Given the description of an element on the screen output the (x, y) to click on. 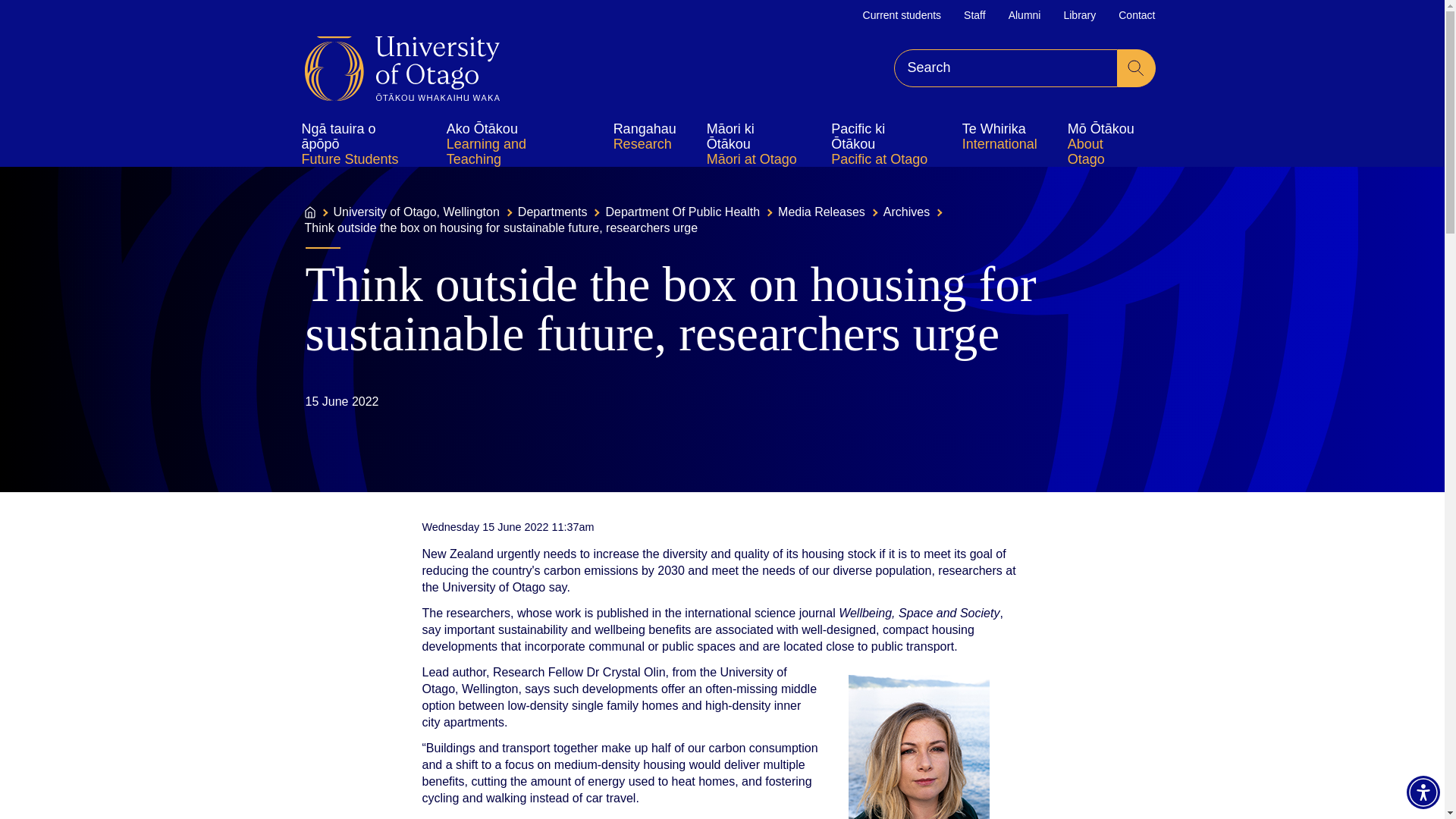
Staff (974, 15)
Current students (902, 15)
Contact (1136, 15)
Alumni (1025, 15)
Accessibility Menu (1422, 792)
Home (402, 68)
Library (1079, 15)
